Given the description of an element on the screen output the (x, y) to click on. 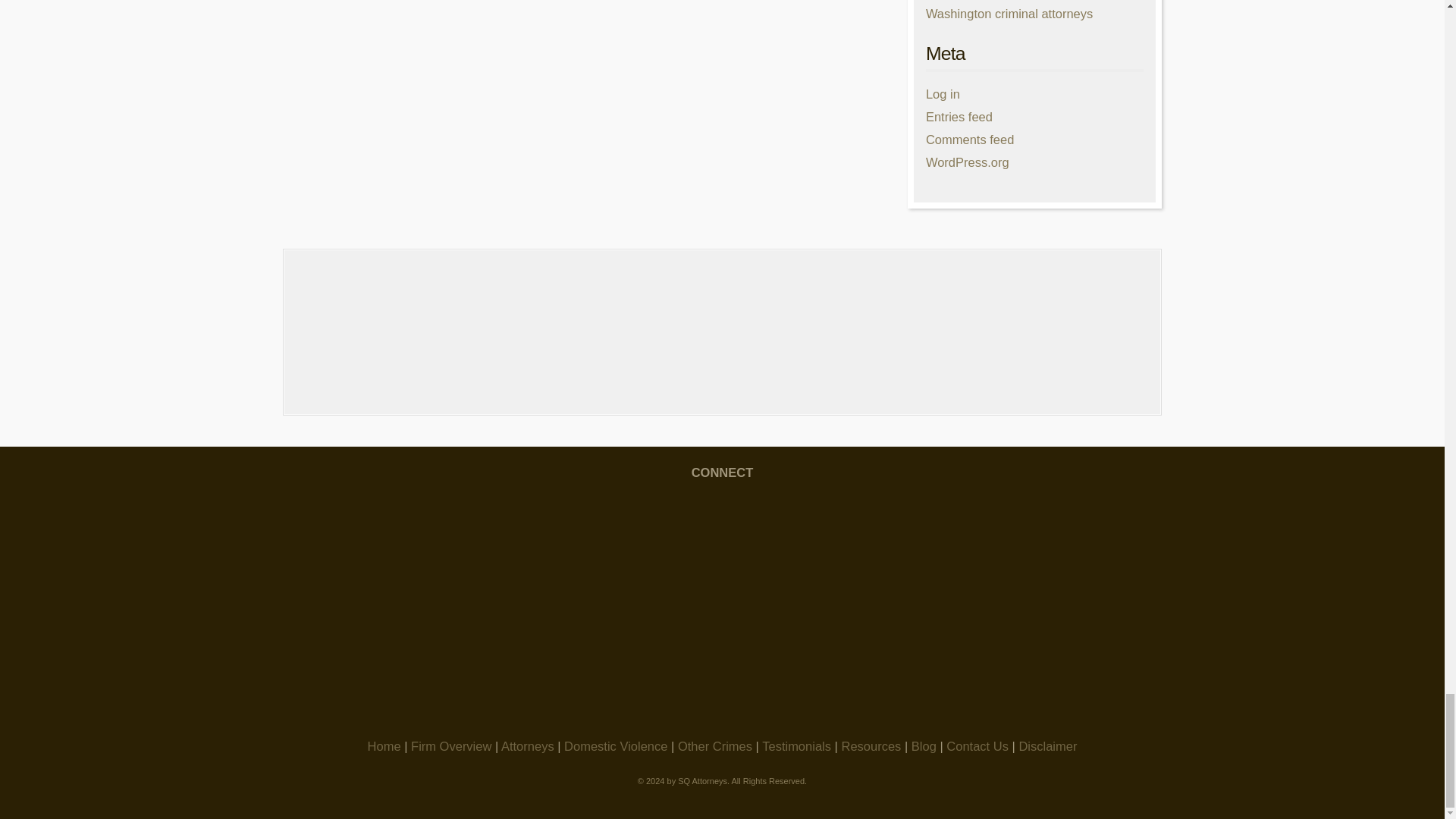
Twitter (960, 539)
Facebook (482, 539)
Simple WordPress Themes (1133, 791)
Instagram (721, 539)
Tumblr (721, 657)
